Given the description of an element on the screen output the (x, y) to click on. 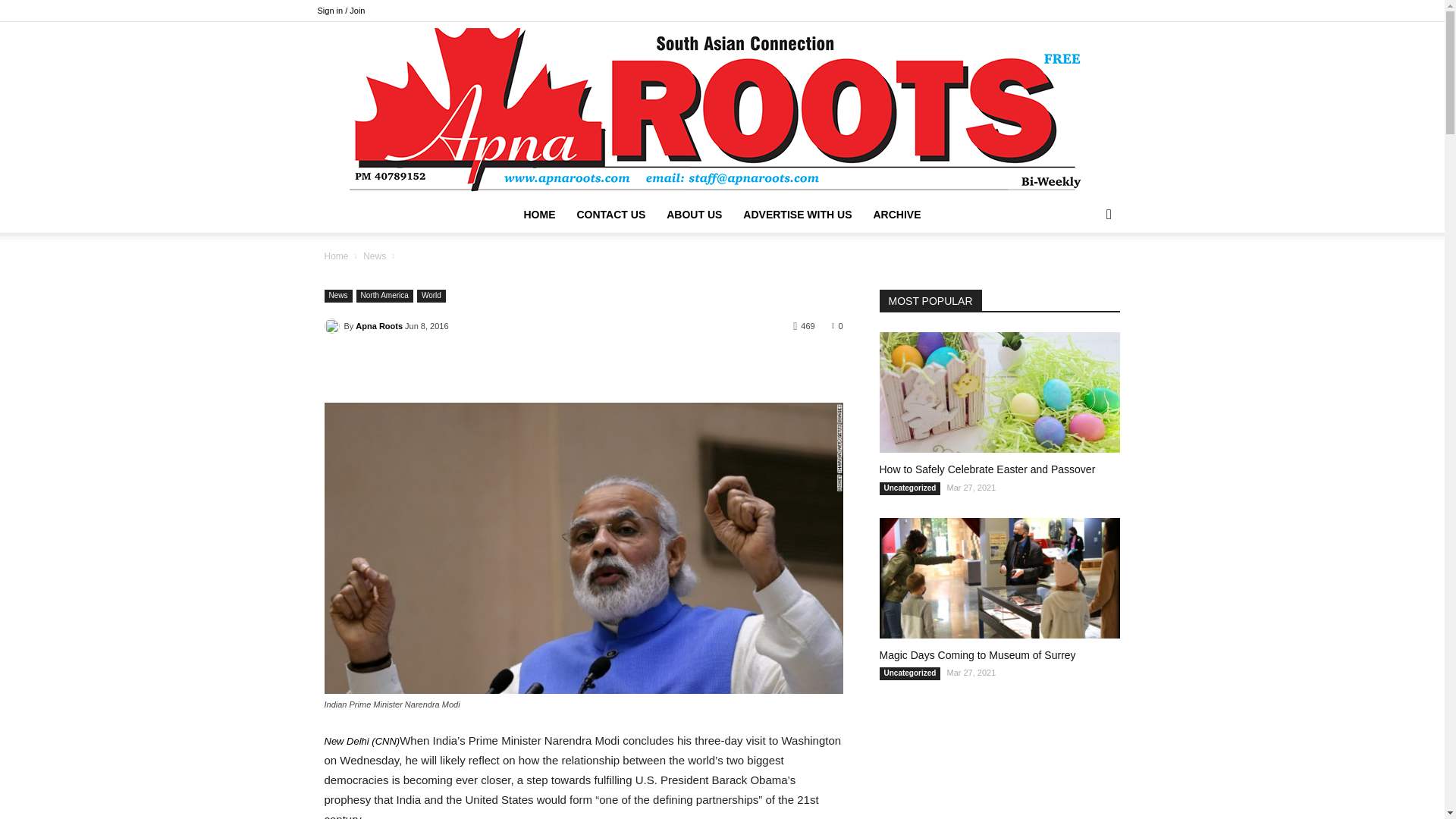
HOME (539, 214)
Magic Days Coming to Museum of Surrey (977, 654)
ARCHIVE (896, 214)
ABOUT US (694, 214)
News (373, 255)
0 (837, 325)
Magic Days Coming to Museum of Surrey (1000, 577)
ADVERTISE WITH US (796, 214)
View all posts in News (373, 255)
World (430, 295)
